Given the description of an element on the screen output the (x, y) to click on. 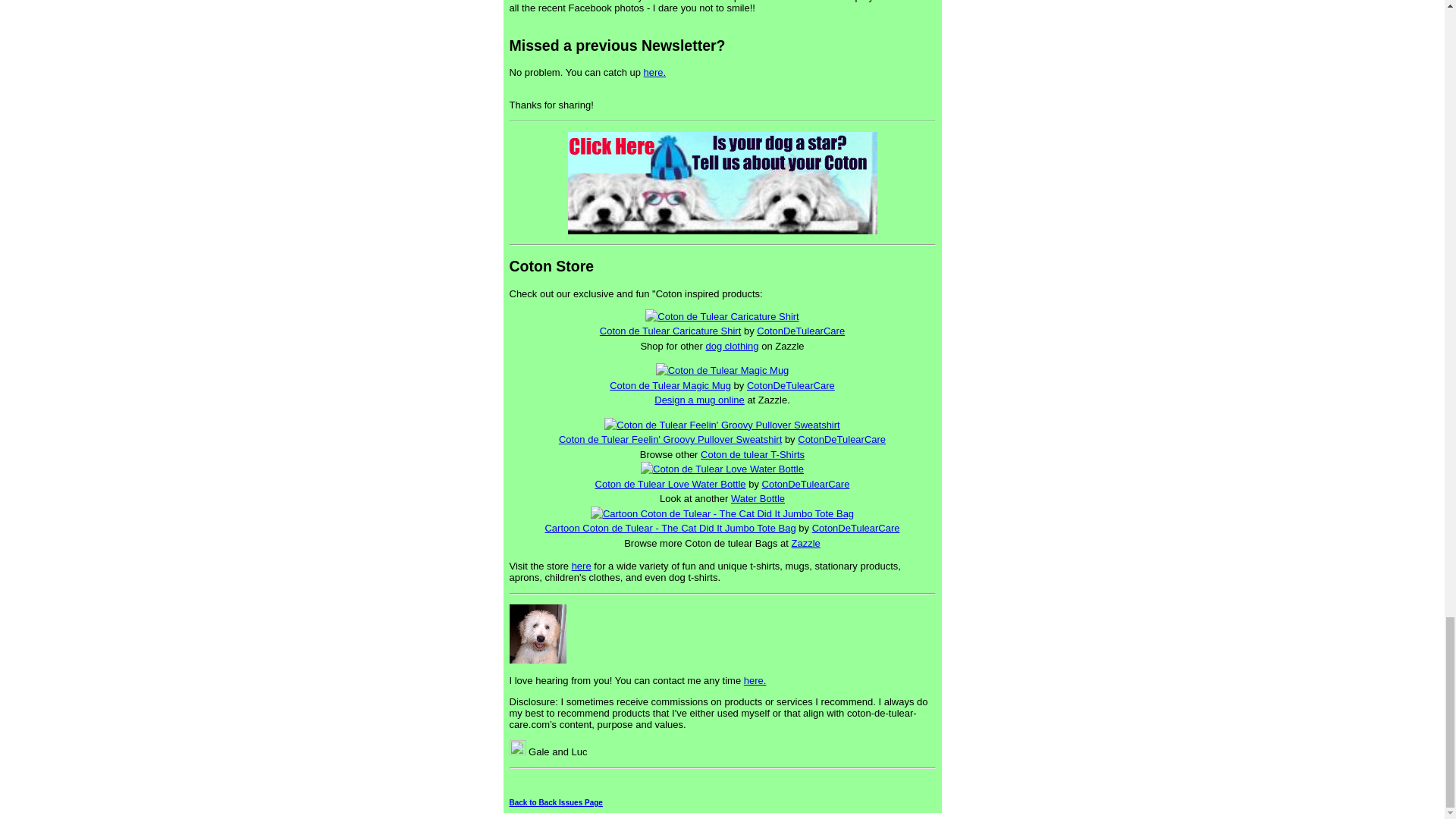
Coton de Tulear Magic Mug (670, 385)
CotonDeTulearCare (855, 527)
CotonDeTulearCare (841, 439)
dog clothing (731, 346)
Water Bottle (757, 498)
CotonDeTulearCare (790, 385)
Coton de Tulear Love Water Bottle (670, 483)
here (581, 565)
here. (654, 71)
Cartoon Coton de Tulear - The Cat Did It Jumbo Tote Bag (669, 527)
